Given the description of an element on the screen output the (x, y) to click on. 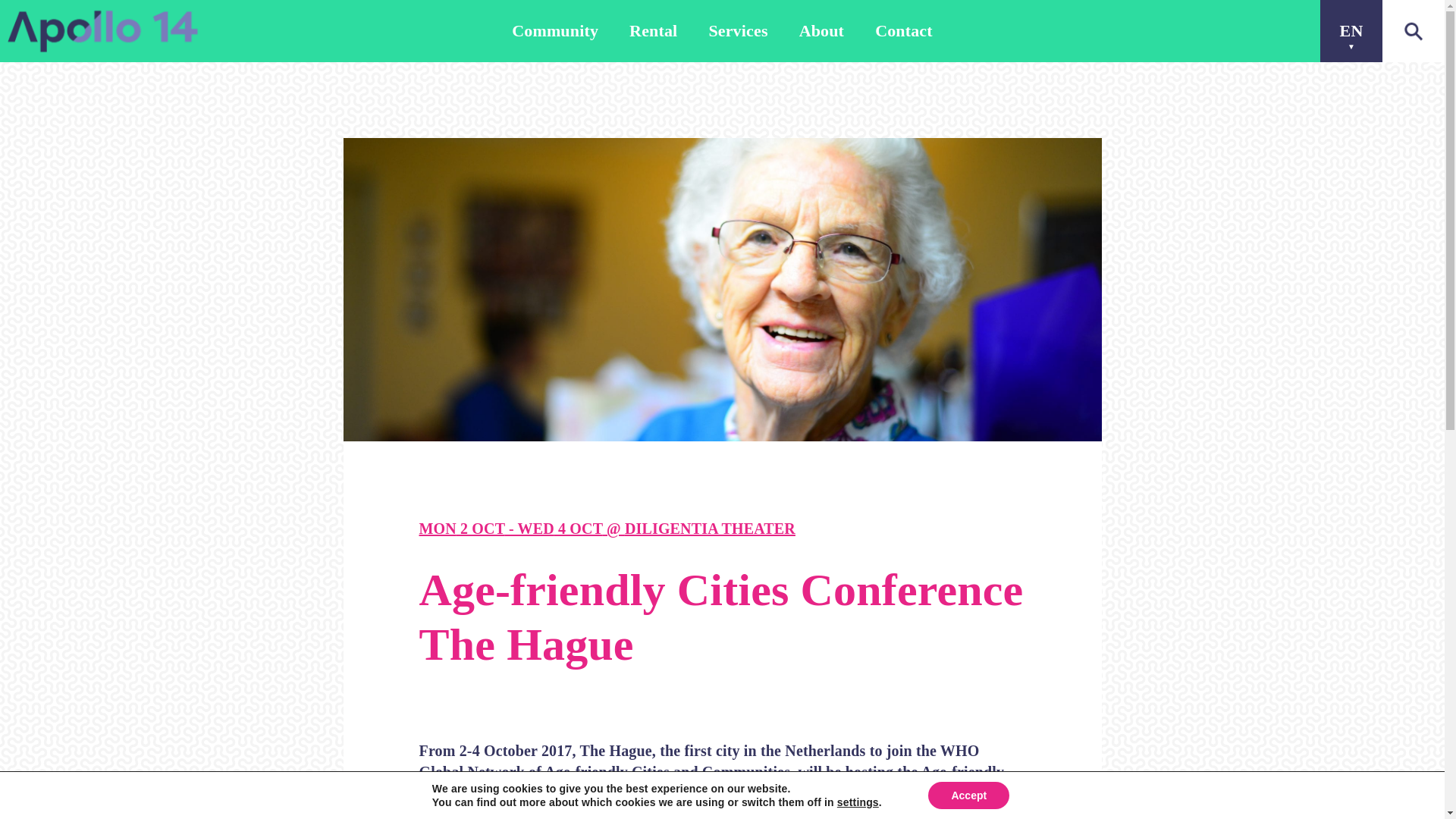
Search (375, 455)
Community (555, 31)
Contact (904, 31)
EN (1350, 31)
Services (737, 31)
EN (1350, 31)
Accept (968, 795)
settings (858, 802)
